Given the description of an element on the screen output the (x, y) to click on. 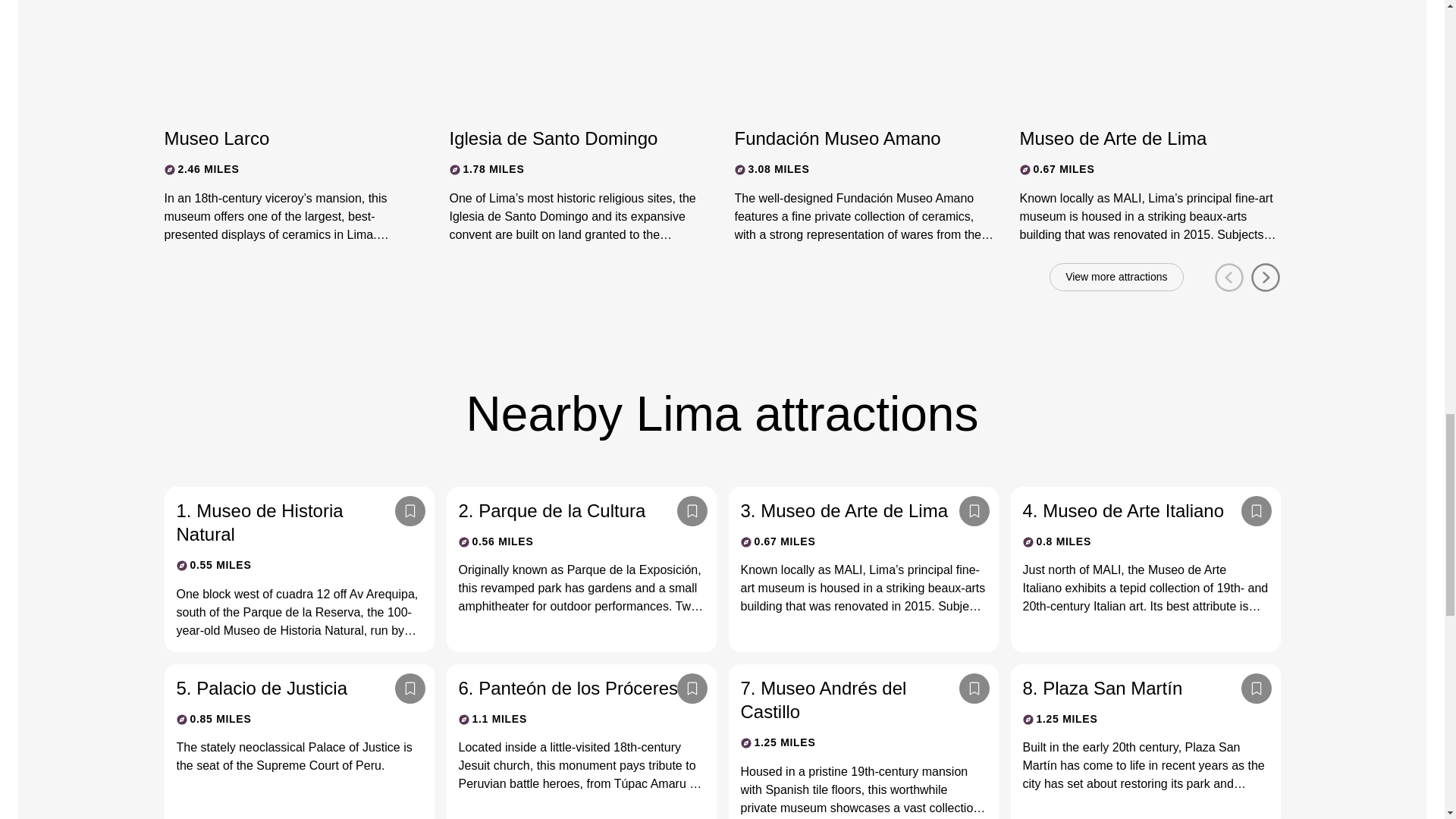
Iglesia de Santo Domingo (566, 137)
Museo Larco (280, 137)
Museo de Arte de Lima (1136, 137)
